Given the description of an element on the screen output the (x, y) to click on. 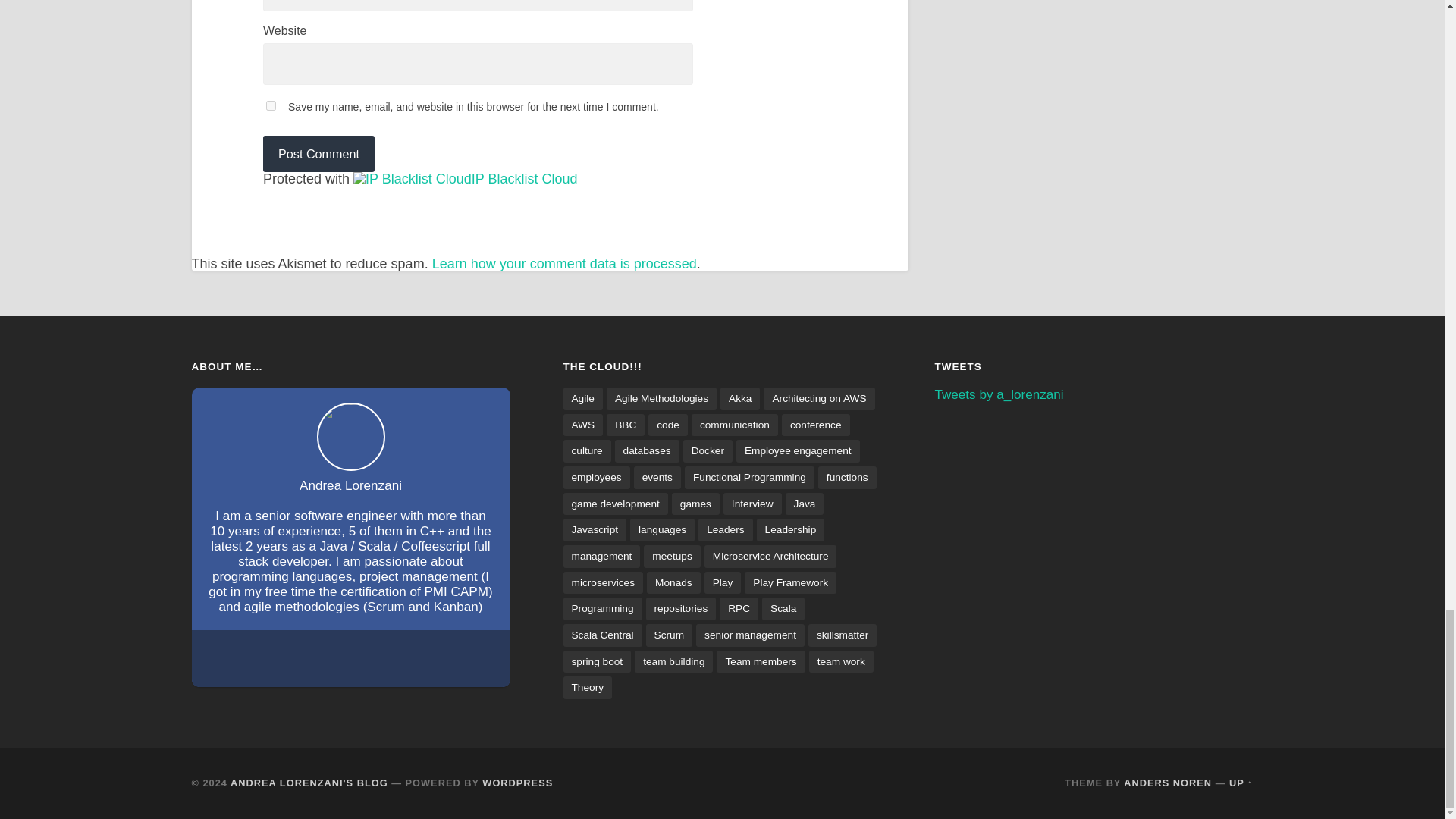
IP Blacklist Cloud (524, 178)
yes (271, 105)
Post Comment (318, 153)
